Given the description of an element on the screen output the (x, y) to click on. 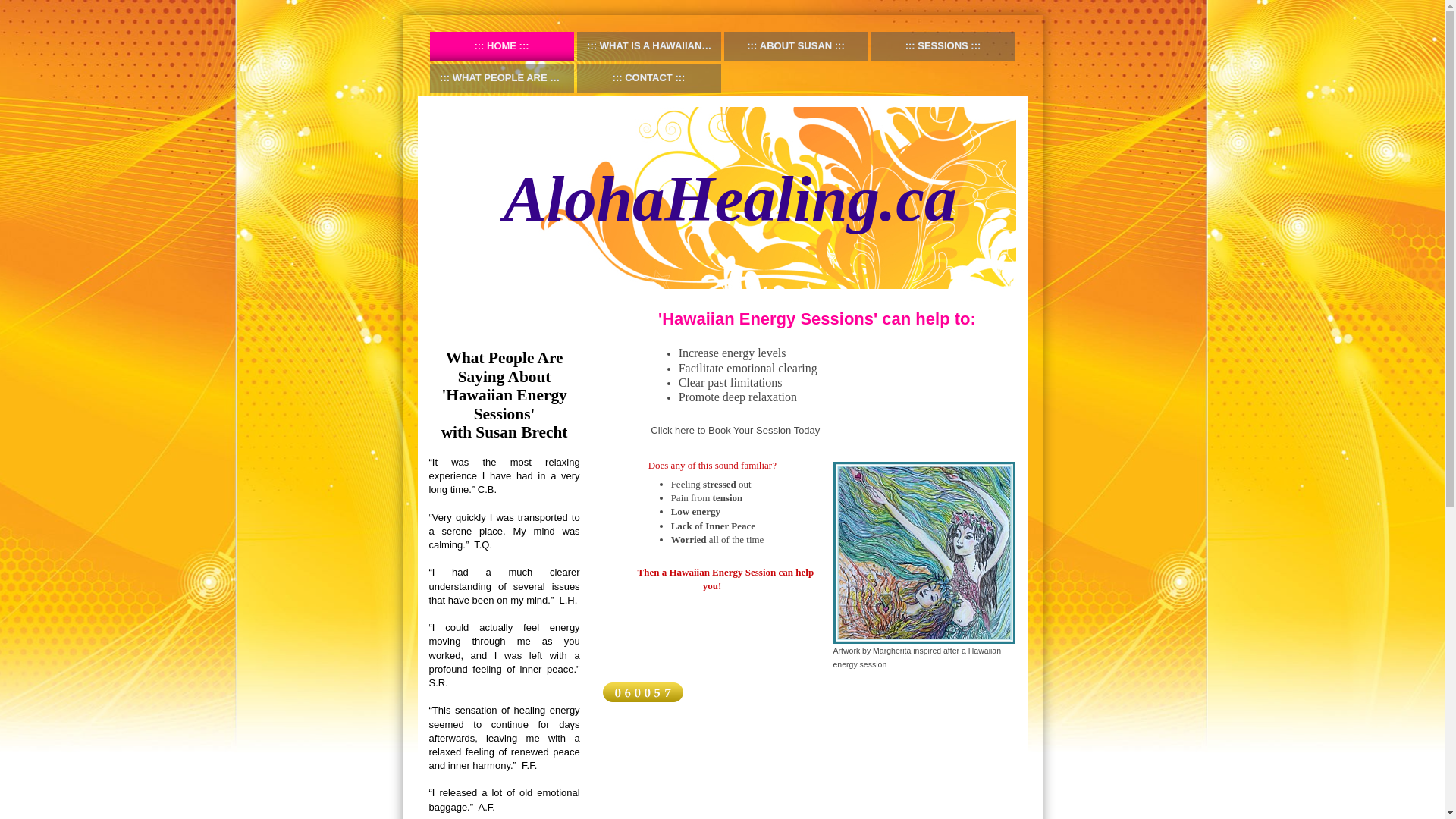
ABOUT SUSAN (795, 45)
WHAT PEOPLE ARE SAYING (501, 77)
HOME (501, 45)
SESSIONS (942, 45)
WHAT IS A HAWAIIAN ENERGY SESSION? (648, 45)
CONTACT (648, 77)
AlohaHealing.ca (729, 197)
 Click here to Book Your Session Today (734, 430)
